Given the description of an element on the screen output the (x, y) to click on. 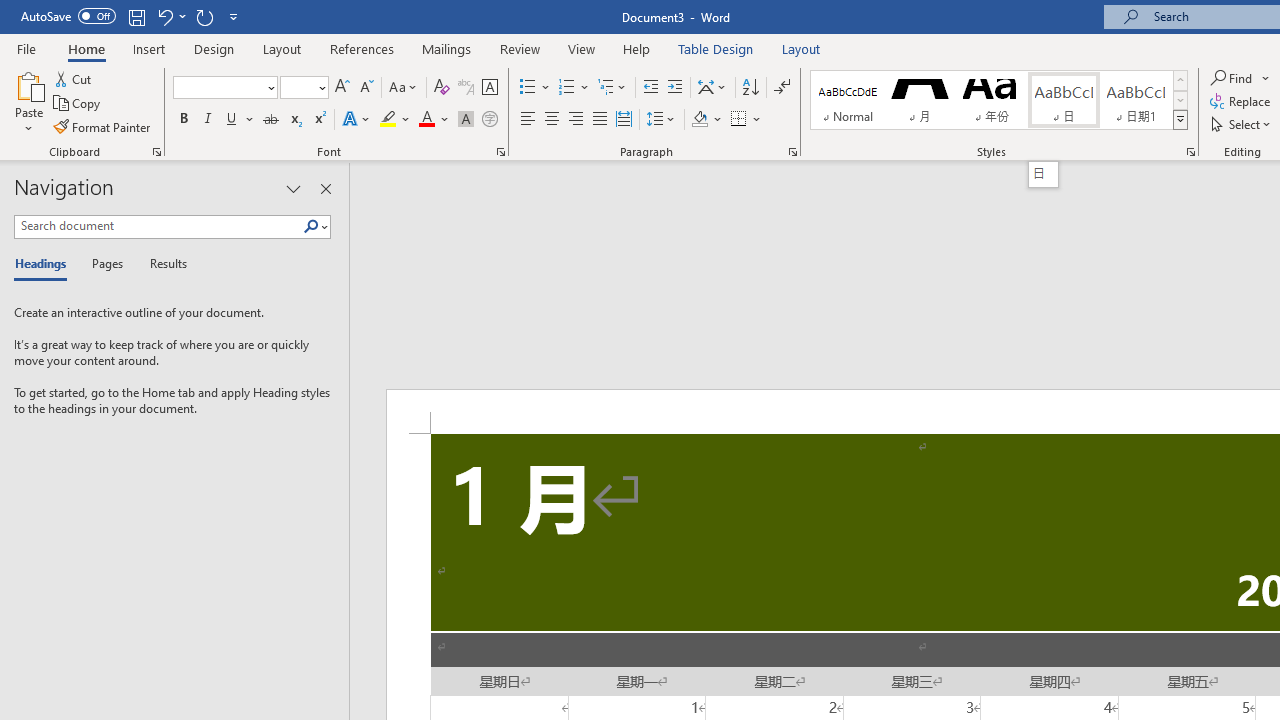
Row up (1179, 79)
Sort... (750, 87)
Phonetic Guide... (465, 87)
Copy (78, 103)
Strikethrough (270, 119)
Search (315, 227)
Styles (1179, 120)
Font... (500, 151)
Subscript (294, 119)
Shrink Font (365, 87)
Mailings (447, 48)
Styles... (1190, 151)
